Given the description of an element on the screen output the (x, y) to click on. 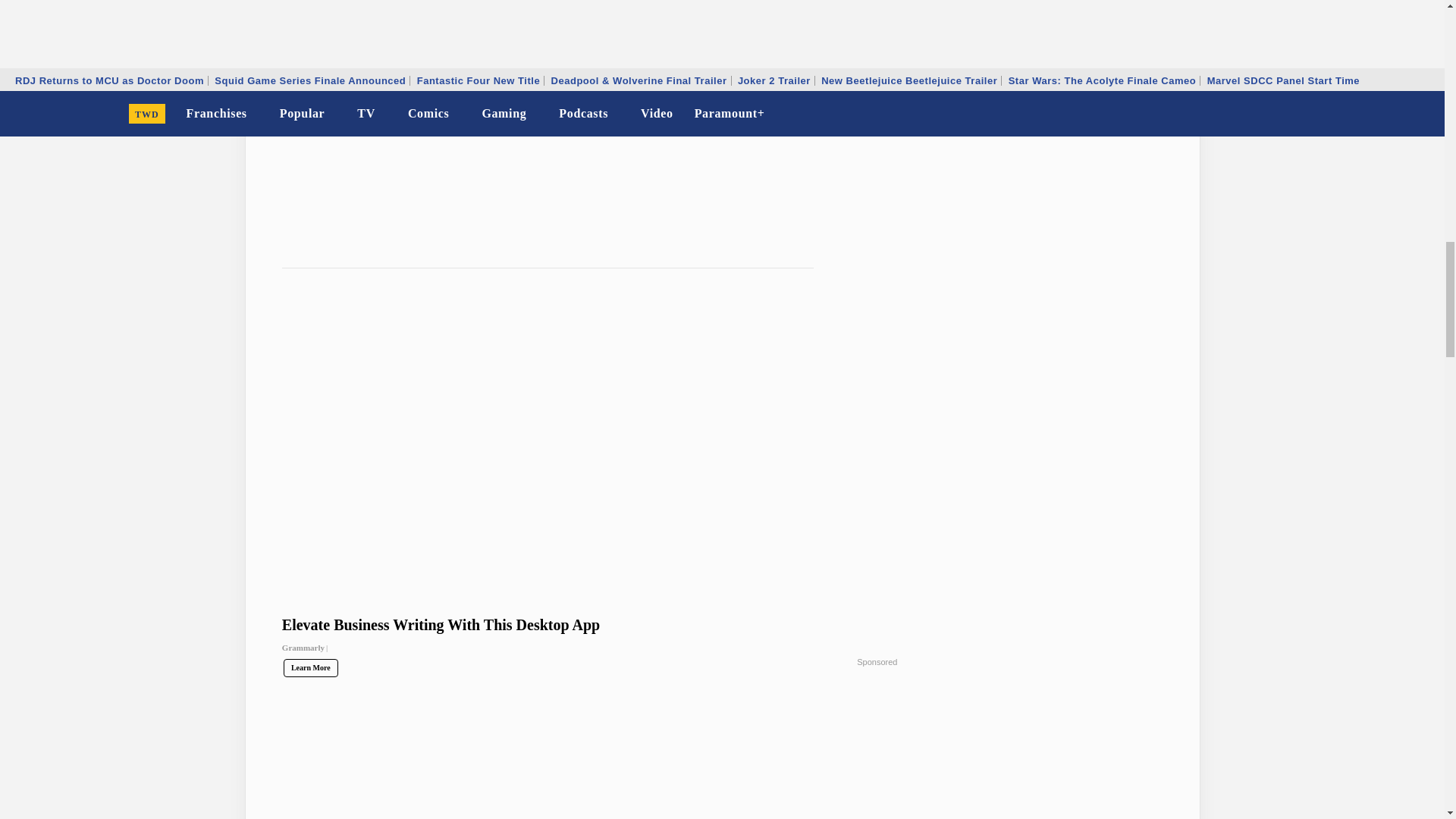
Video Player (590, 102)
Elevate Business Writing With This Desktop App (590, 640)
